Given the description of an element on the screen output the (x, y) to click on. 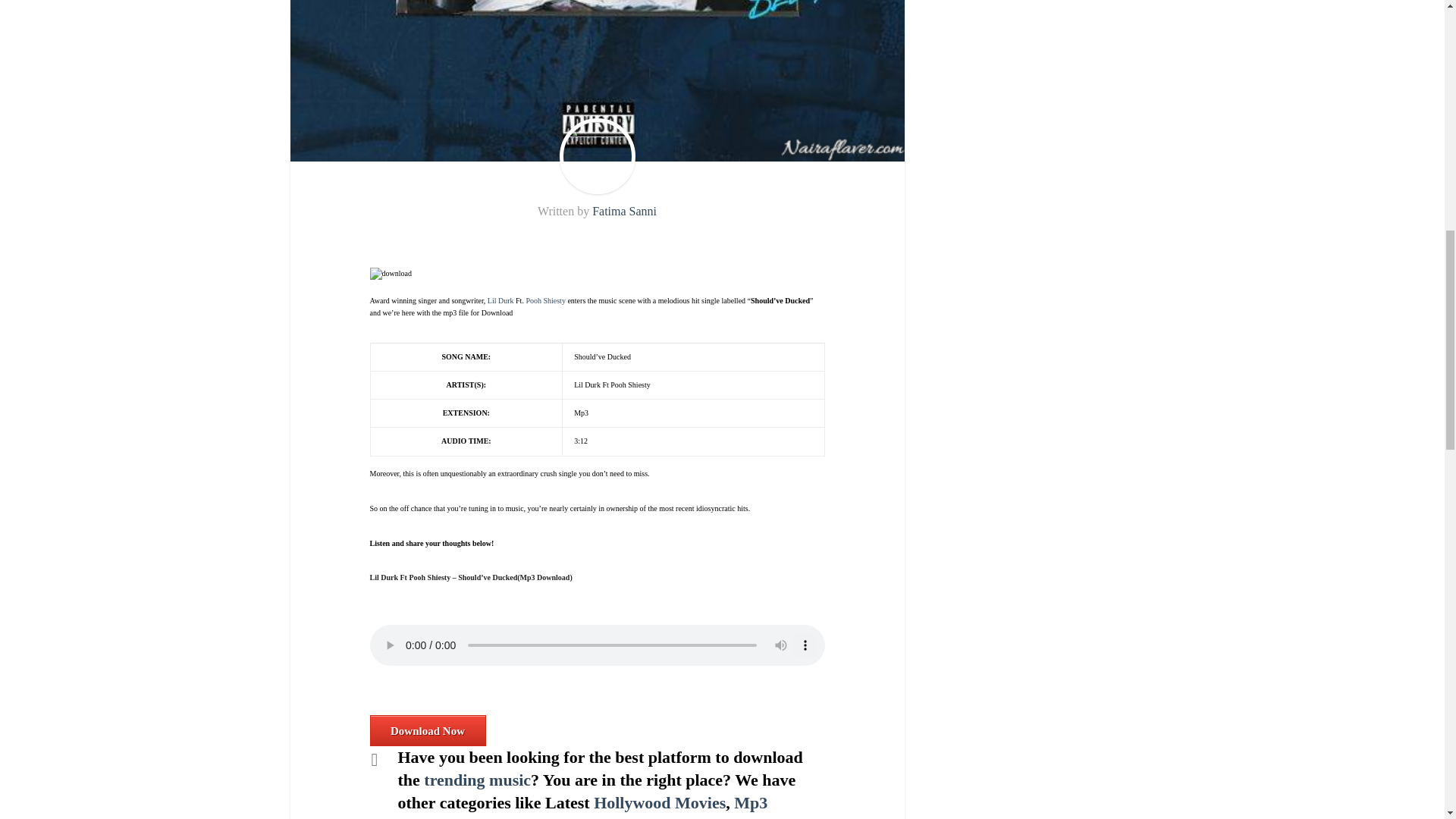
trending music (477, 779)
Lyrics (528, 817)
Lil Durk (500, 300)
Mp3 Instrumentals (582, 806)
Pooh Shiesty (545, 300)
Download Now (427, 730)
Hollywood Movie (656, 802)
Fatima Sanni (624, 210)
